Given the description of an element on the screen output the (x, y) to click on. 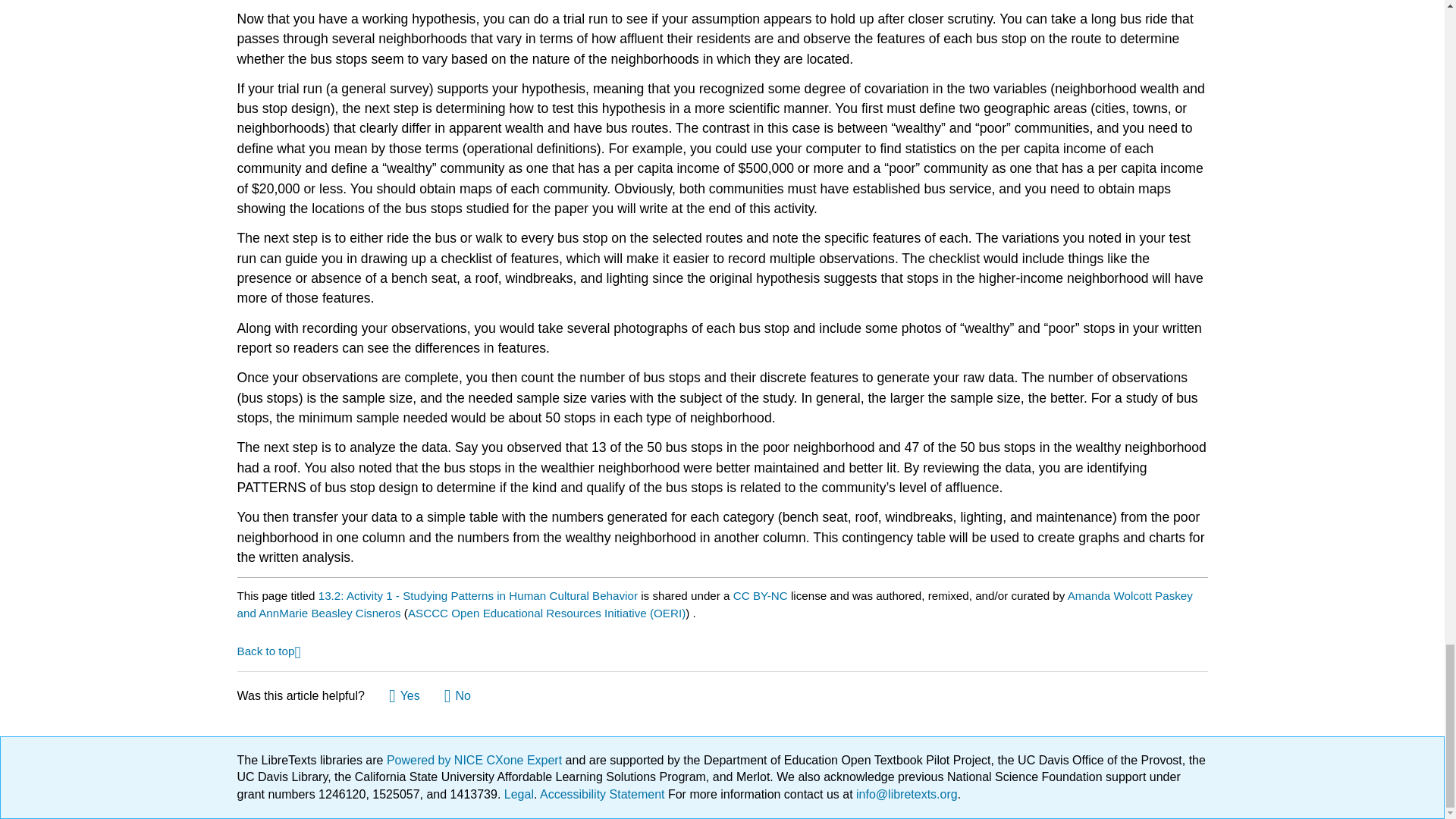
Jump back to top of this article (267, 650)
